Given the description of an element on the screen output the (x, y) to click on. 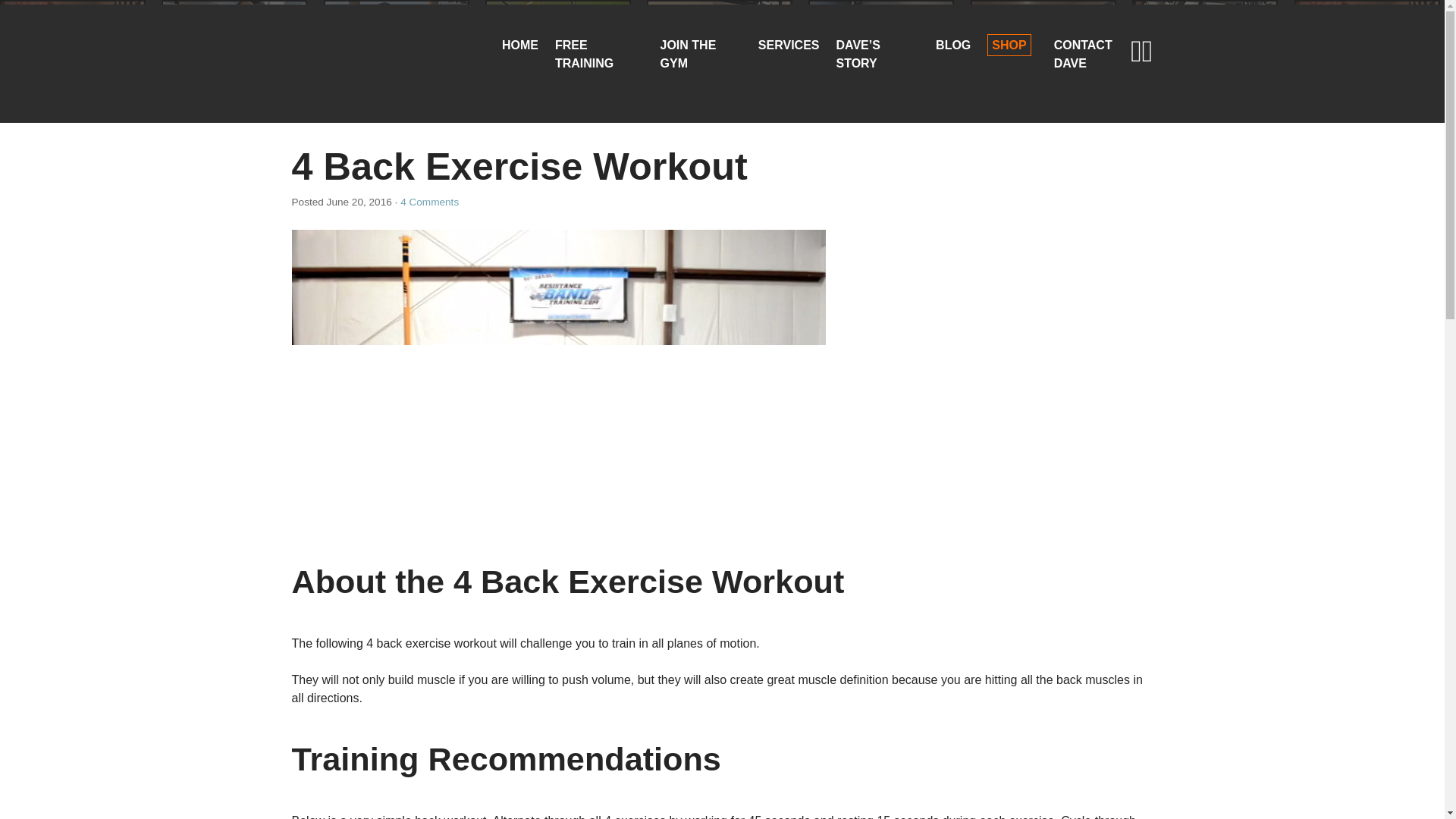
BLOG (953, 44)
SERVICES (788, 44)
CONTACT DAVE (1083, 53)
FREE TRAINING (583, 53)
SHOP (1008, 45)
RBT Resistance Band Training (351, 55)
JOIN THE GYM (688, 53)
4 Comments (429, 202)
HOME (520, 44)
